Given the description of an element on the screen output the (x, y) to click on. 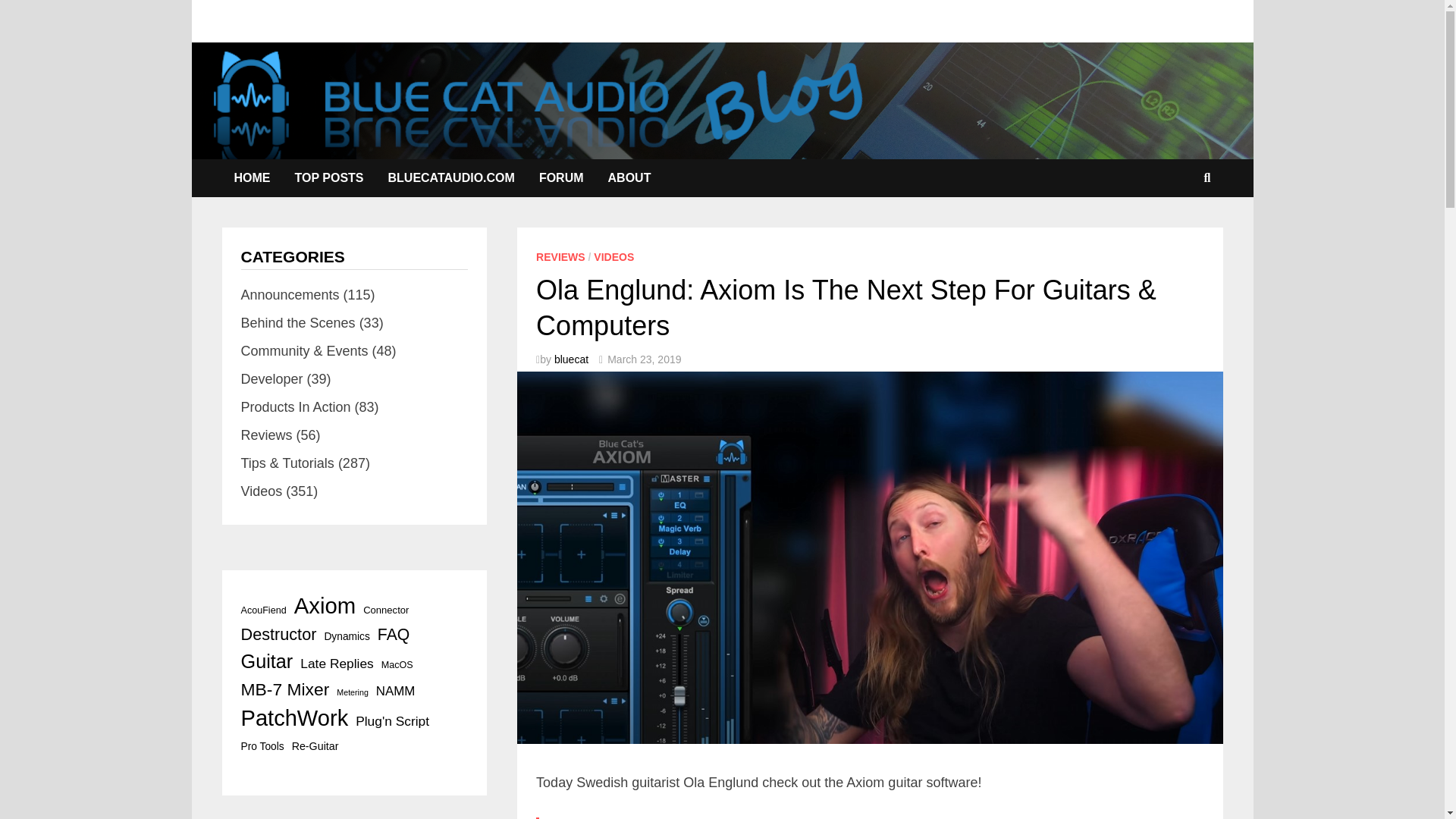
ABOUT (629, 177)
Behind the Scenes (298, 322)
BLUECATAUDIO.COM (451, 177)
Products In Action (295, 406)
FORUM (561, 177)
REVIEWS (560, 256)
VIDEOS (613, 256)
March 23, 2019 (644, 358)
Developer (271, 378)
HOME (251, 177)
Announcements (290, 294)
bluecat (571, 358)
TOP POSTS (328, 177)
